Given the description of an element on the screen output the (x, y) to click on. 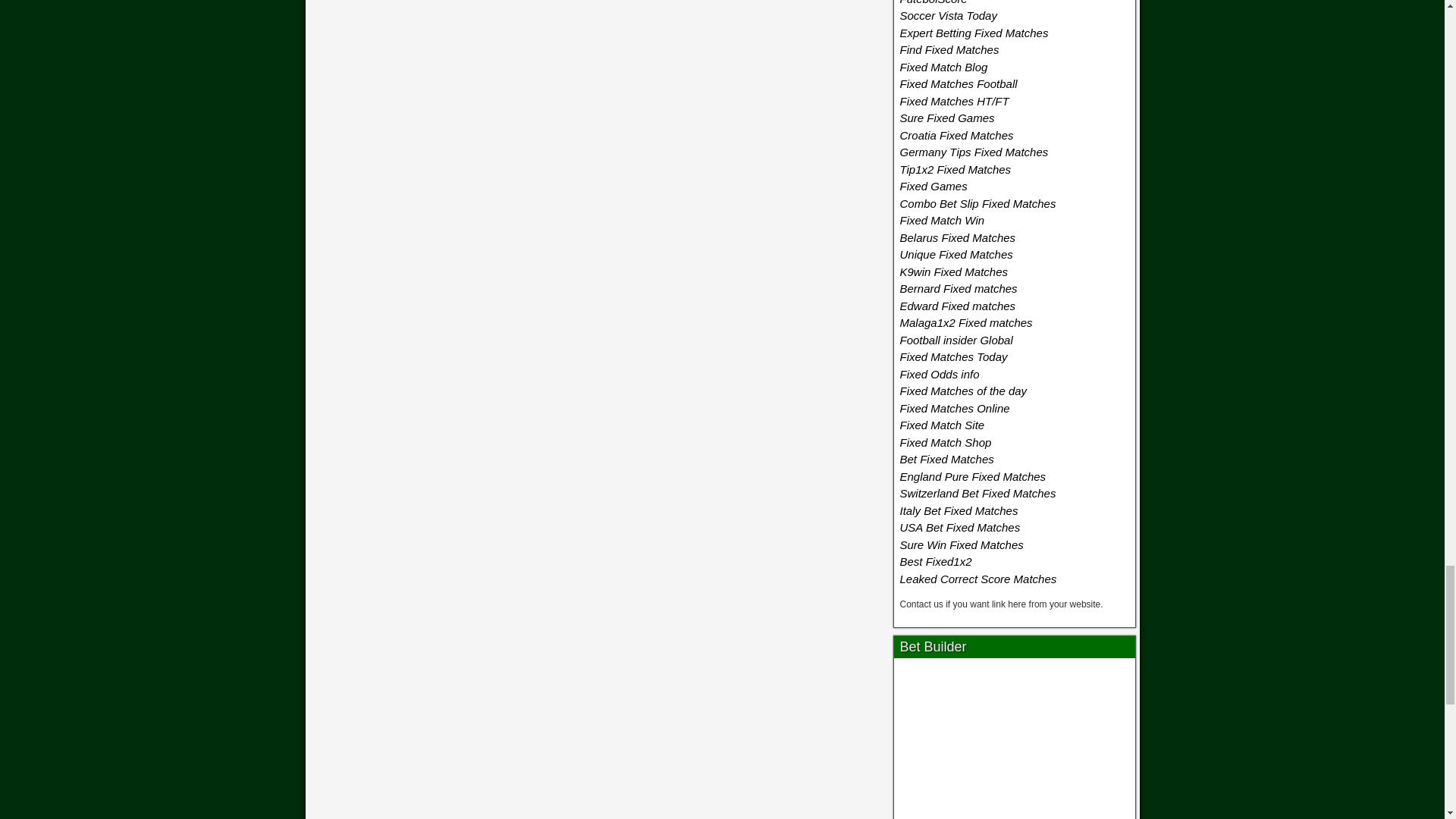
Bet Builder Bet365 Bookie (1014, 741)
